Given the description of an element on the screen output the (x, y) to click on. 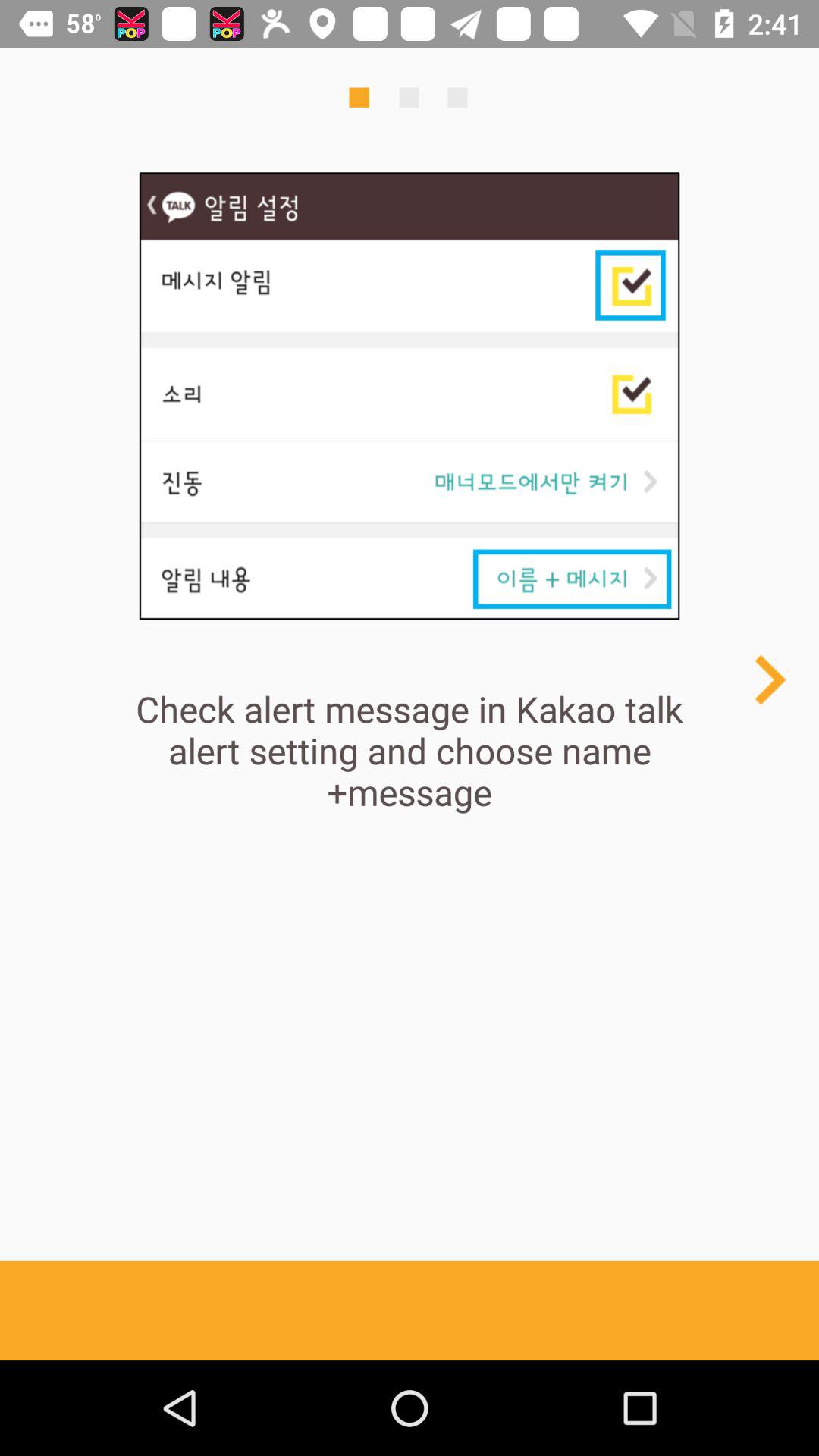
go to next page (769, 679)
